Given the description of an element on the screen output the (x, y) to click on. 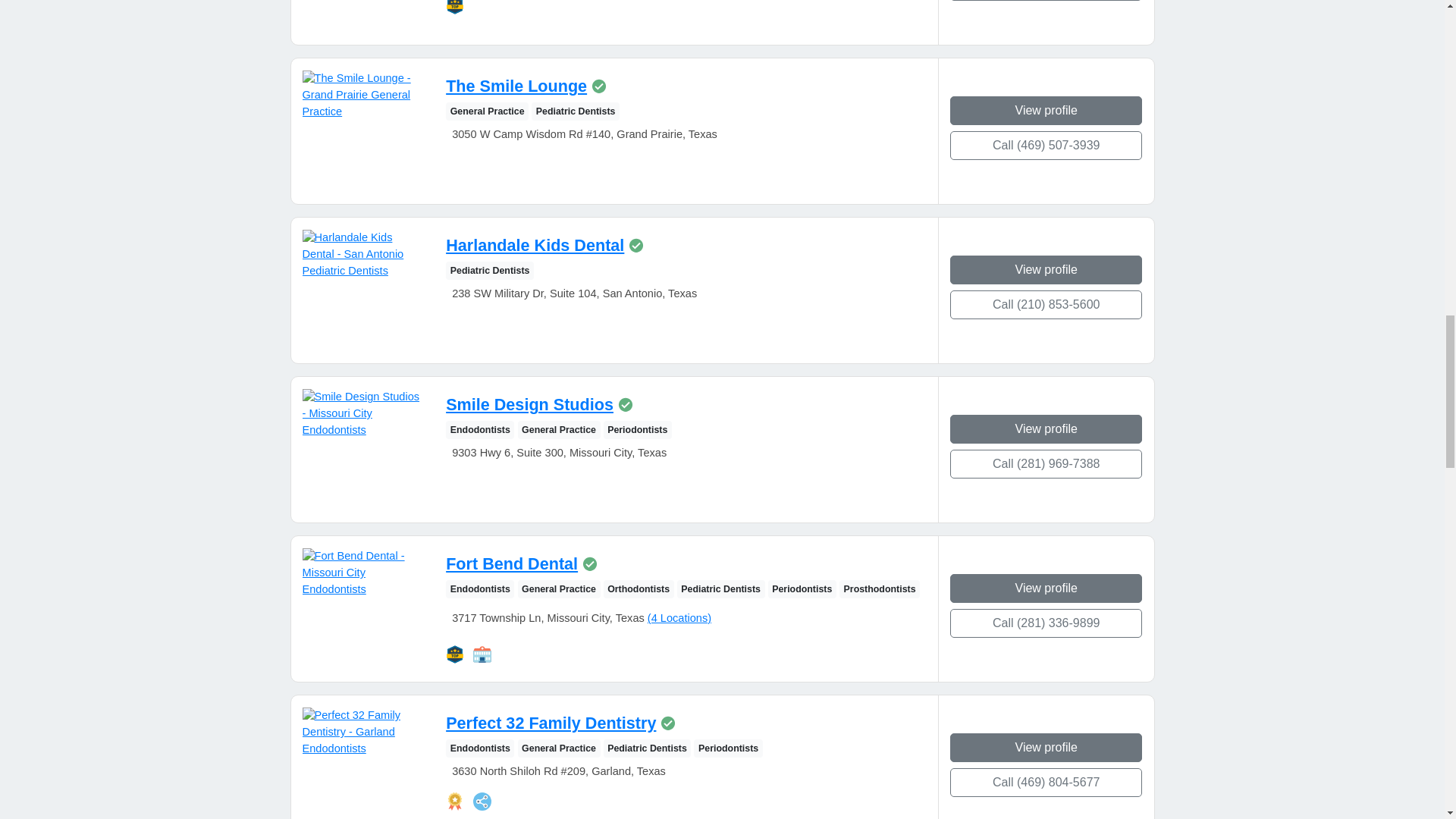
View the profile of Smile Design Studios (528, 404)
This listing is claimed by the owner (635, 245)
View the profile of The Smile Lounge (515, 85)
This listing is claimed by the owner (625, 404)
View the profile of Harlandale Kids Dental (534, 244)
This listing is claimed by the owner (599, 86)
Top Patient Rated Practice (454, 7)
View the profile of Fort Bend Dental (511, 563)
